Given the description of an element on the screen output the (x, y) to click on. 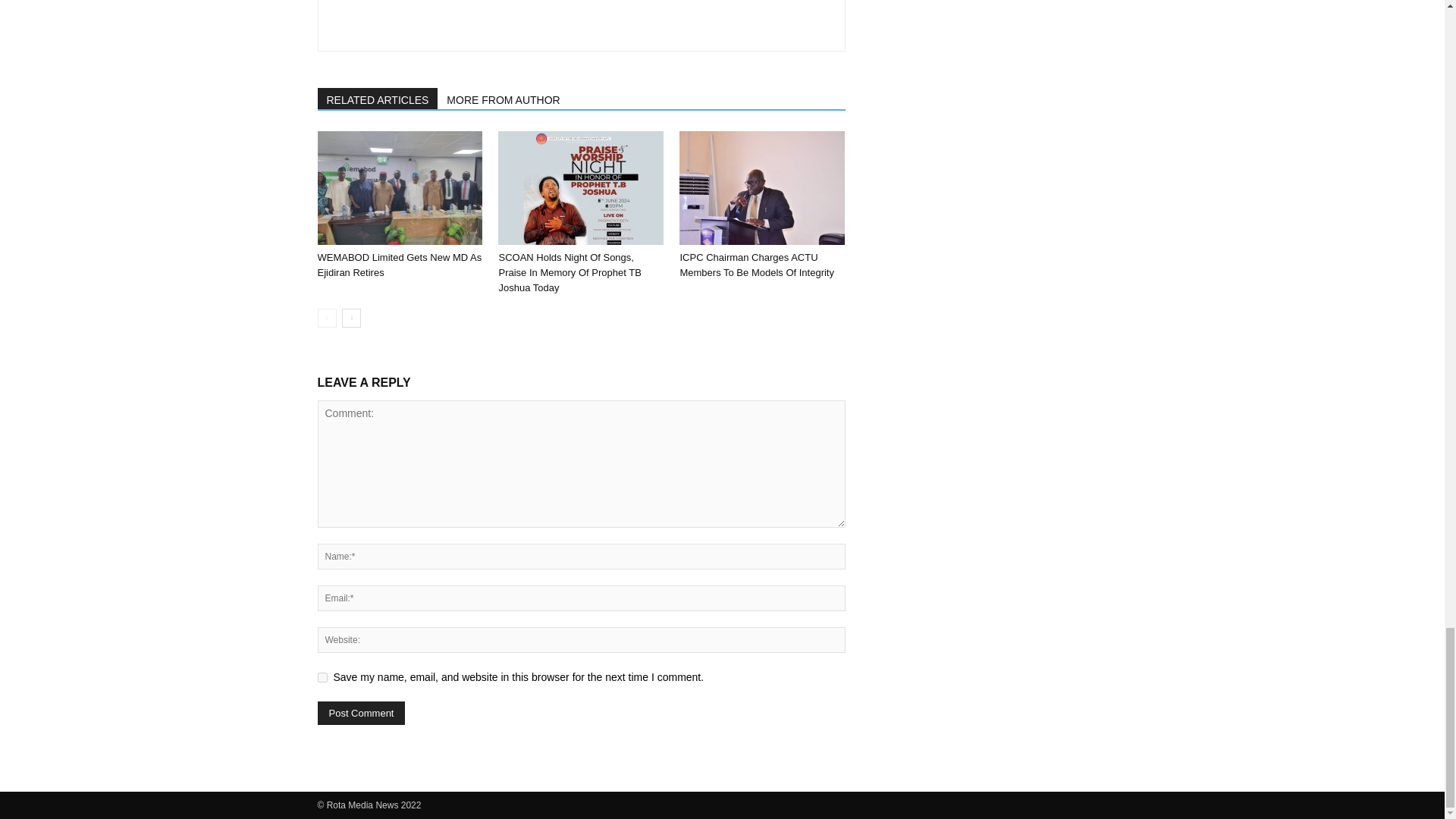
Post Comment (360, 712)
yes (321, 677)
